Given the description of an element on the screen output the (x, y) to click on. 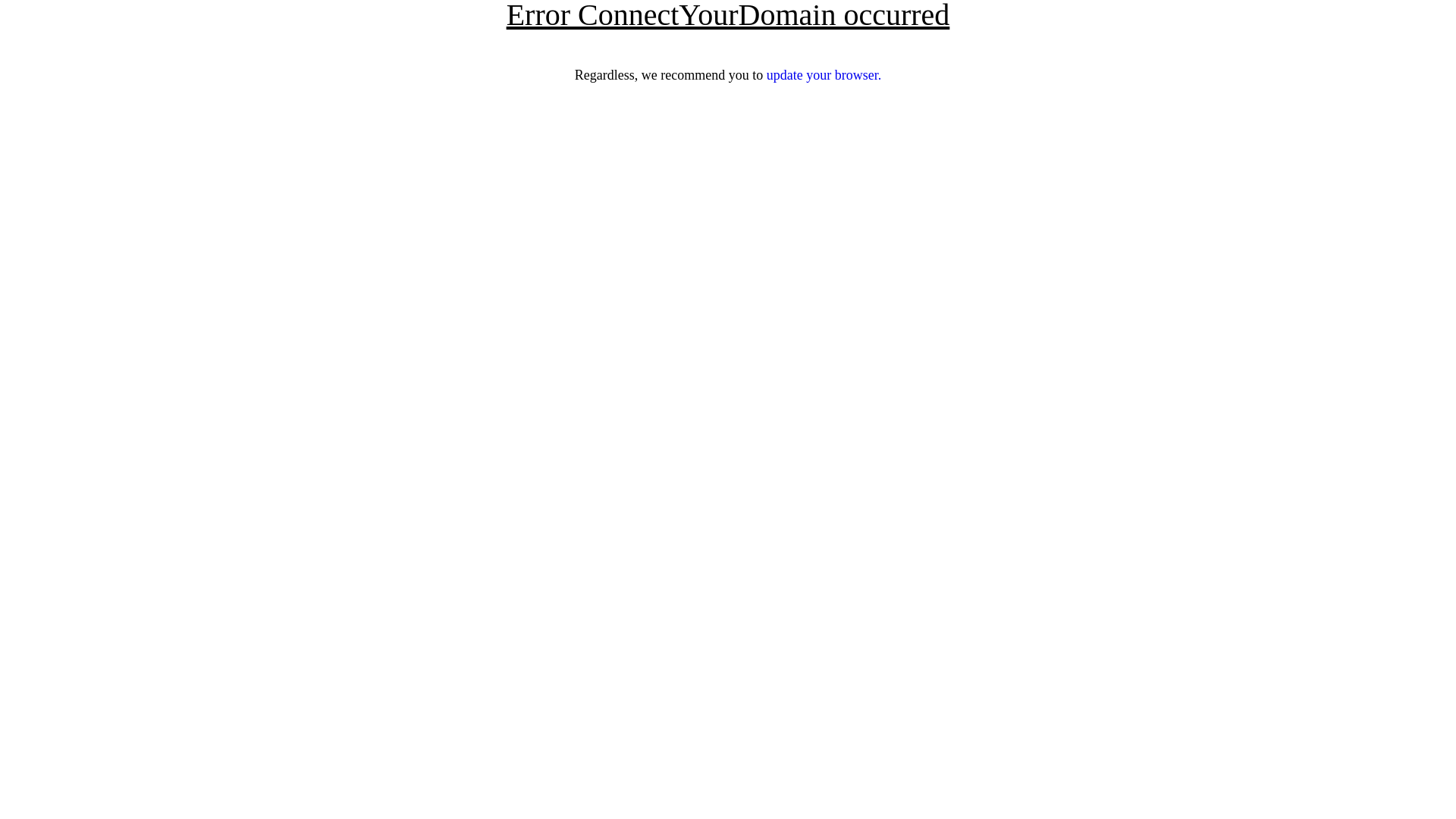
update your browser. Element type: text (823, 74)
